Given the description of an element on the screen output the (x, y) to click on. 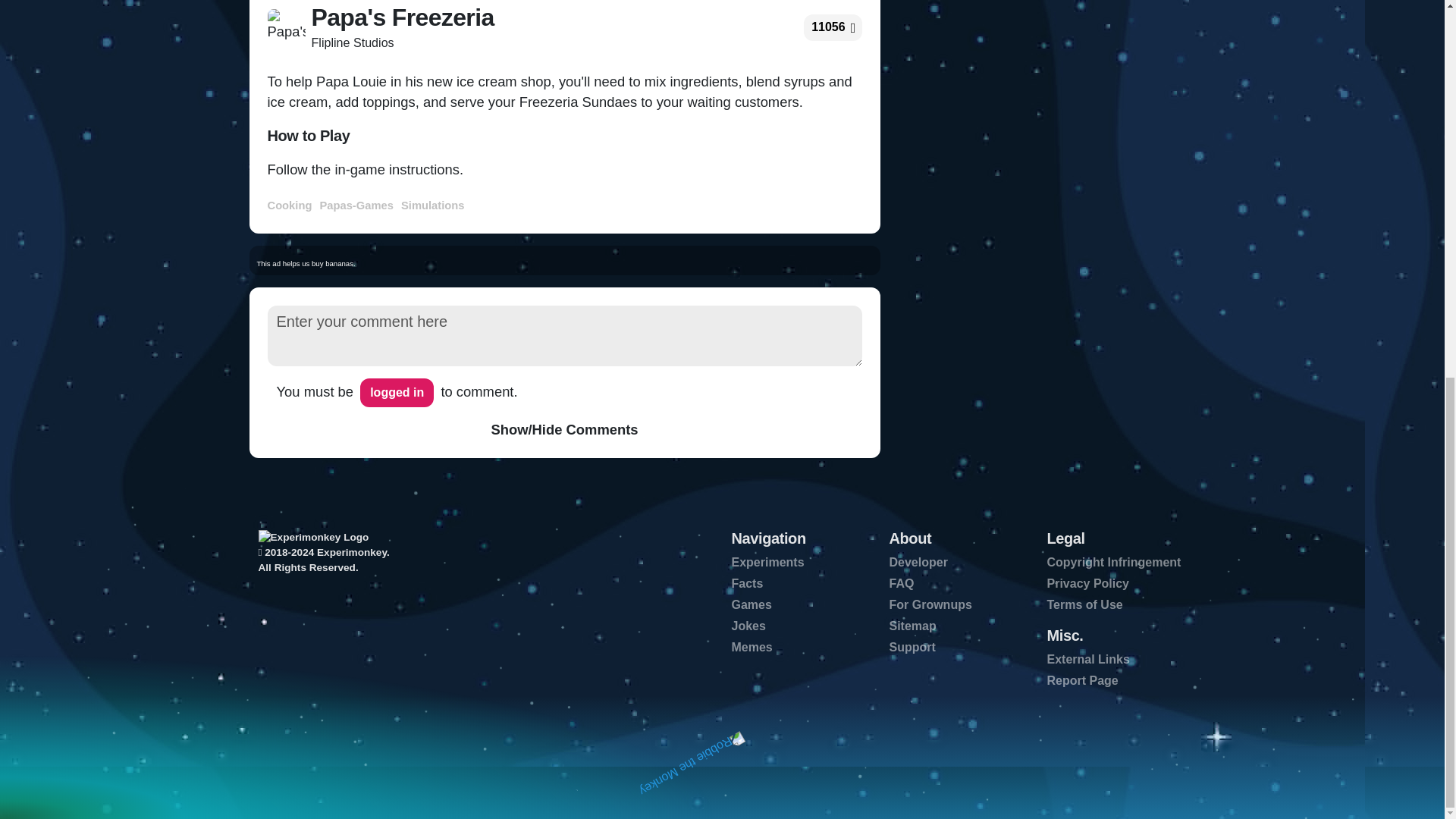
11056 (828, 27)
Sitemap for Experimonkey (912, 625)
Copyright Infringement Procedure (1113, 562)
All Science Experiments (766, 562)
All Science Memes (750, 646)
All Science Jokes (747, 625)
Simulations (434, 204)
Contact Form for Experimonkey (911, 646)
Papas-Games (358, 204)
Back to Top of Page (690, 762)
All Educational Flash Games (750, 604)
Privacy Policy for Experimonkey (1087, 583)
Grownups Page (929, 604)
All Science Facts (746, 583)
Cooking (290, 204)
